Given the description of an element on the screen output the (x, y) to click on. 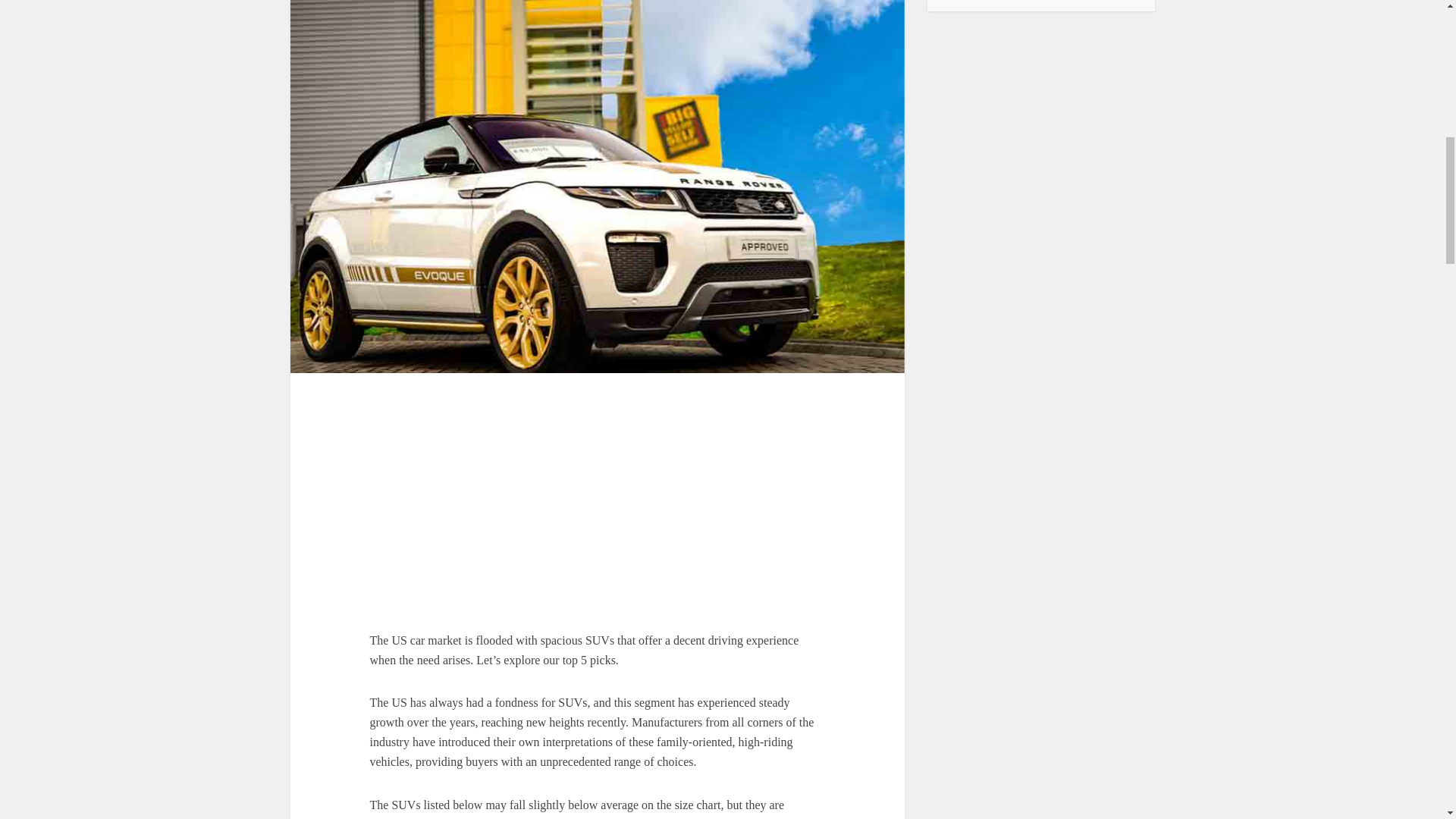
Advertisement (597, 501)
